Given the description of an element on the screen output the (x, y) to click on. 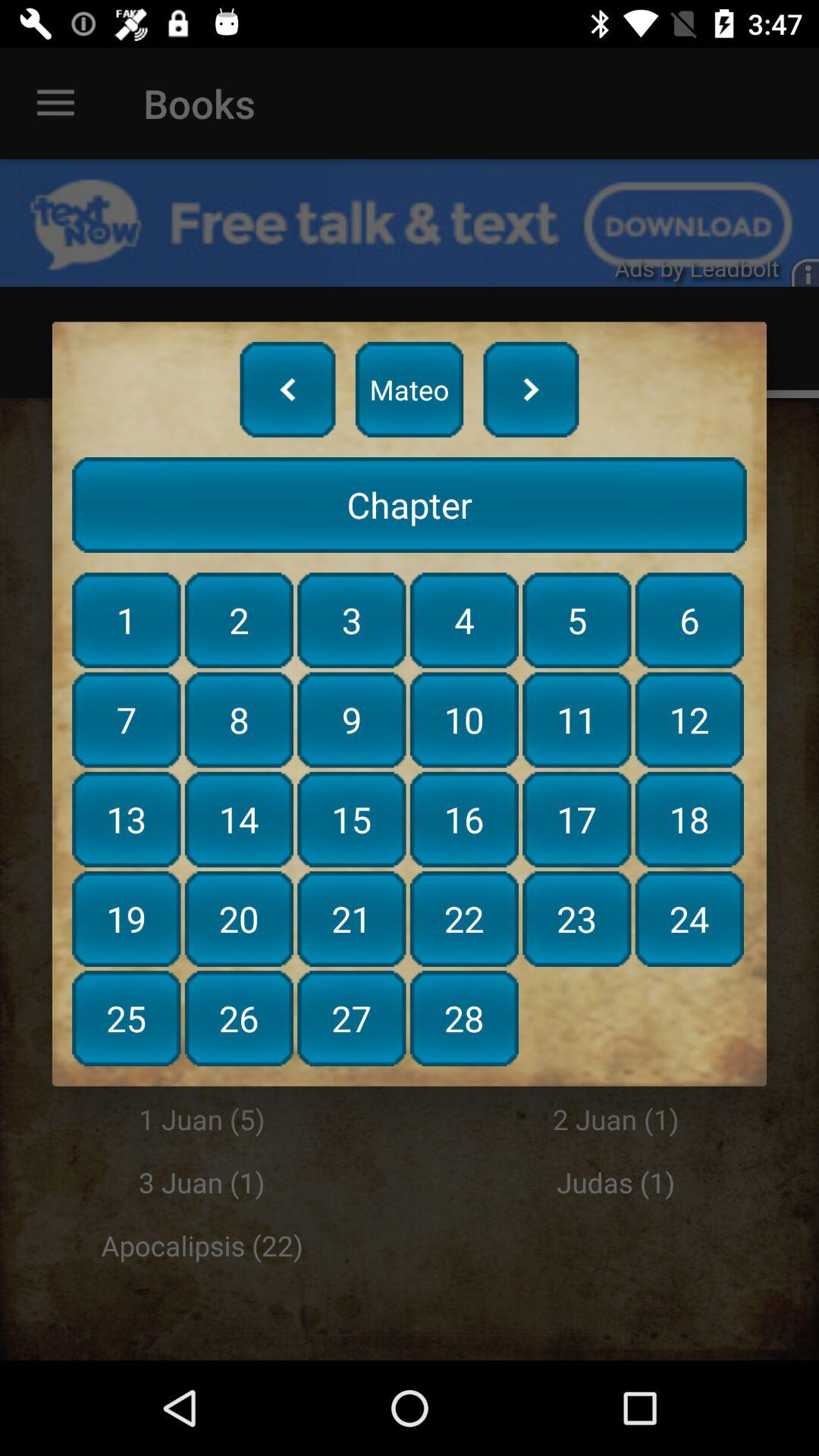
go back to previous page (287, 389)
